Given the description of an element on the screen output the (x, y) to click on. 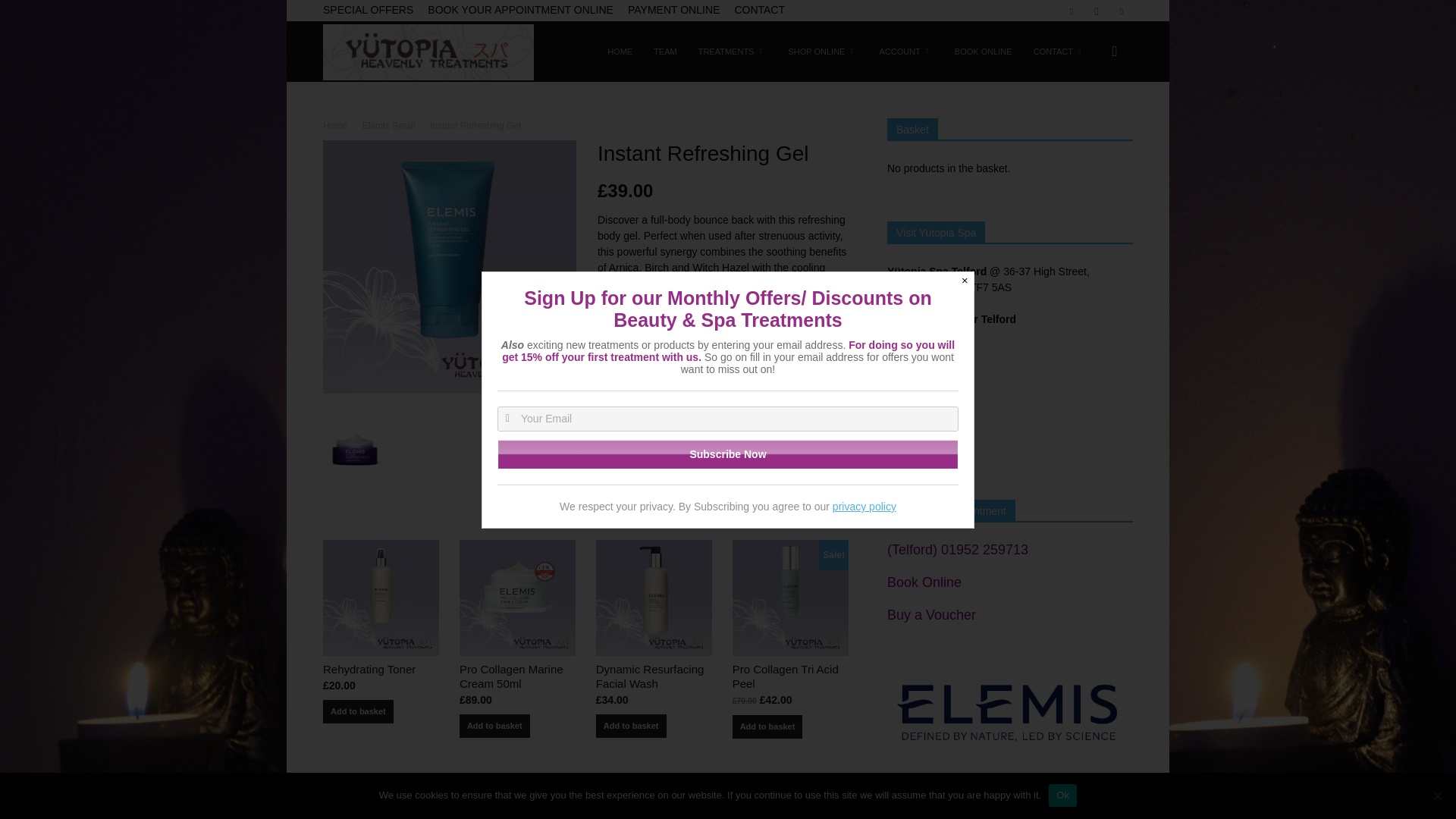
Search (1091, 124)
BOOK YOUR APPOINTMENT ONLINE (520, 9)
Instagram (1096, 10)
Facebook (1071, 10)
Subscribe Now (727, 453)
No (1436, 795)
Mail (1120, 10)
PAYMENT ONLINE (673, 9)
CONTACT (758, 9)
SPECIAL OFFERS (368, 9)
12 (449, 266)
